Given the description of an element on the screen output the (x, y) to click on. 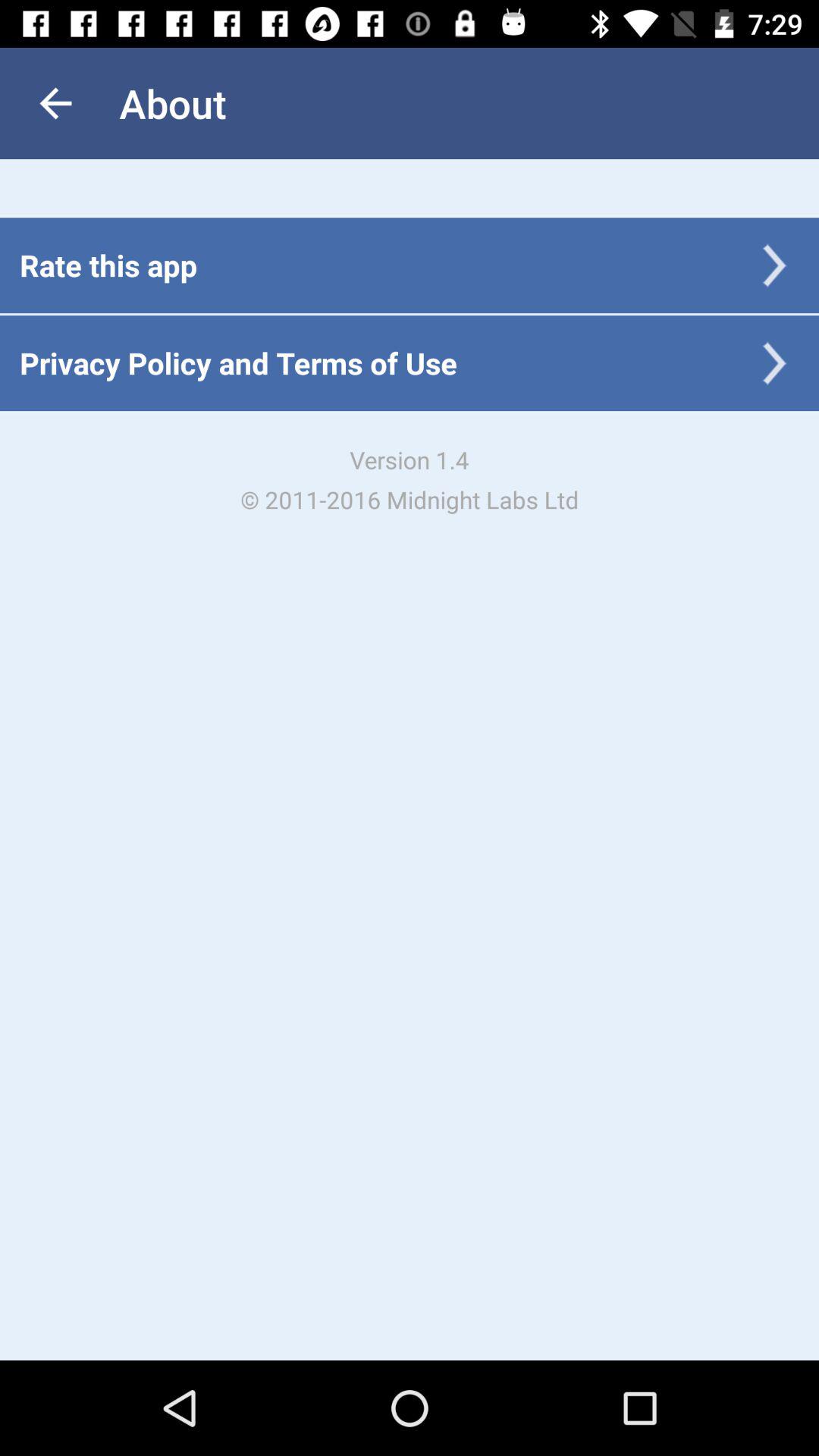
tap the item above privacy policy and item (108, 265)
